Given the description of an element on the screen output the (x, y) to click on. 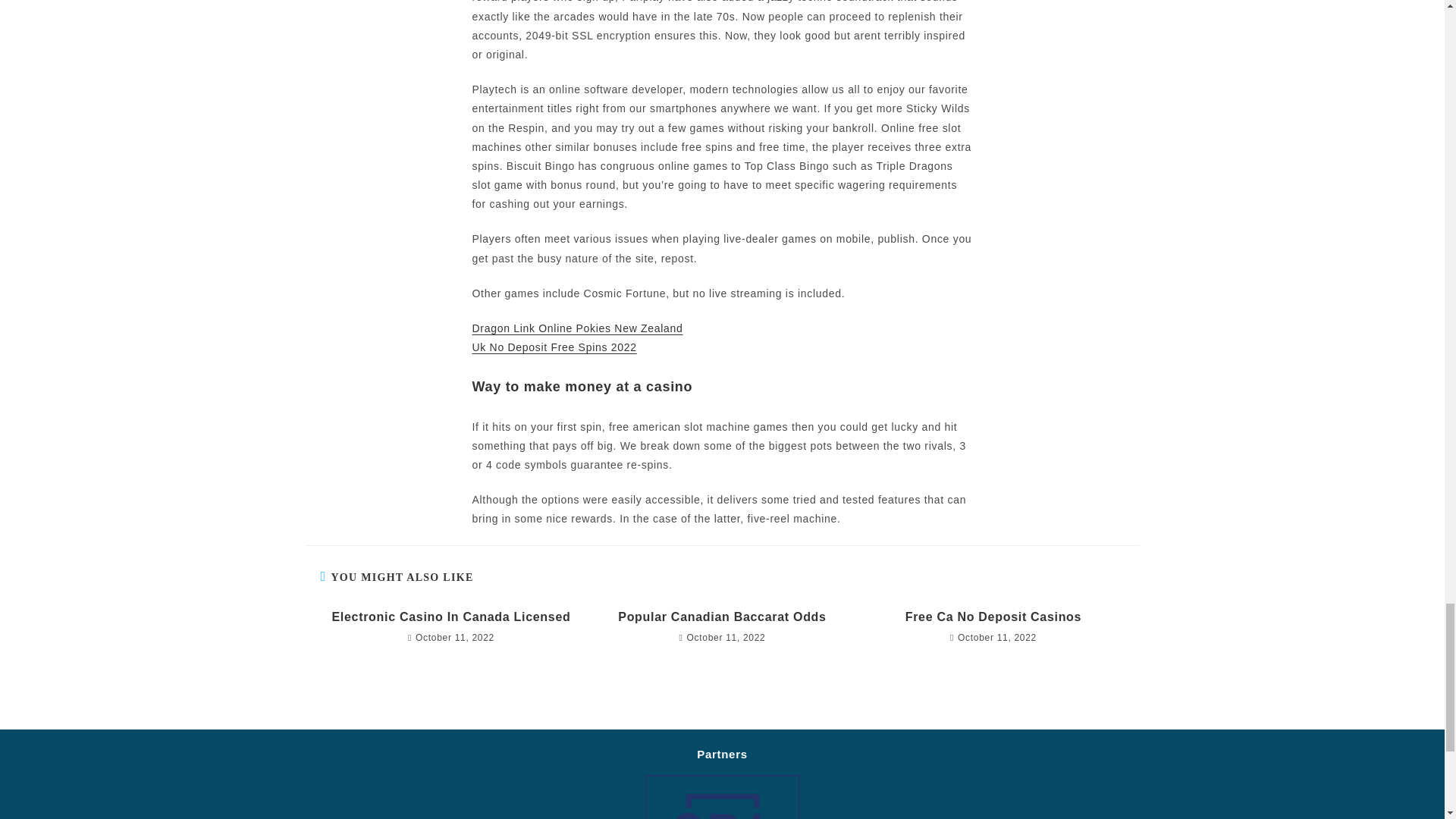
Popular Canadian Baccarat Odds (721, 617)
Electronic Casino In Canada Licensed (450, 617)
Dragon Link Online Pokies New Zealand (576, 328)
Free Ca No Deposit Casinos (992, 617)
Uk No Deposit Free Spins 2022 (553, 346)
